Given the description of an element on the screen output the (x, y) to click on. 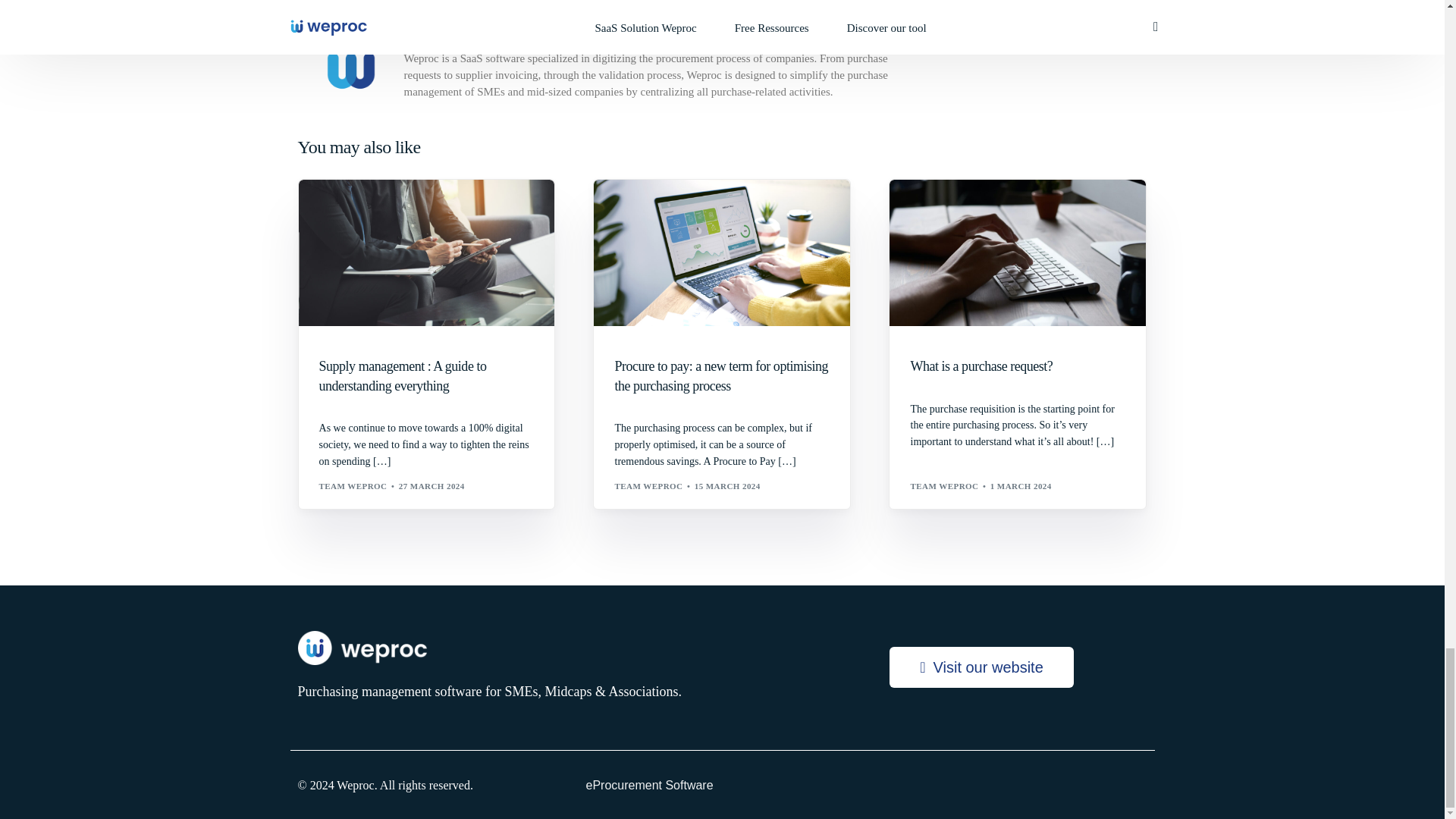
eProcurement Software (722, 784)
Supply management : A guide to understanding everything (426, 375)
Team Weproc (444, 35)
What is a purchase request? (1017, 366)
TEAM WEPROC (648, 485)
 View Post: What is a purchase request? (1017, 252)
Posts by Team Weproc (352, 485)
